Given the description of an element on the screen output the (x, y) to click on. 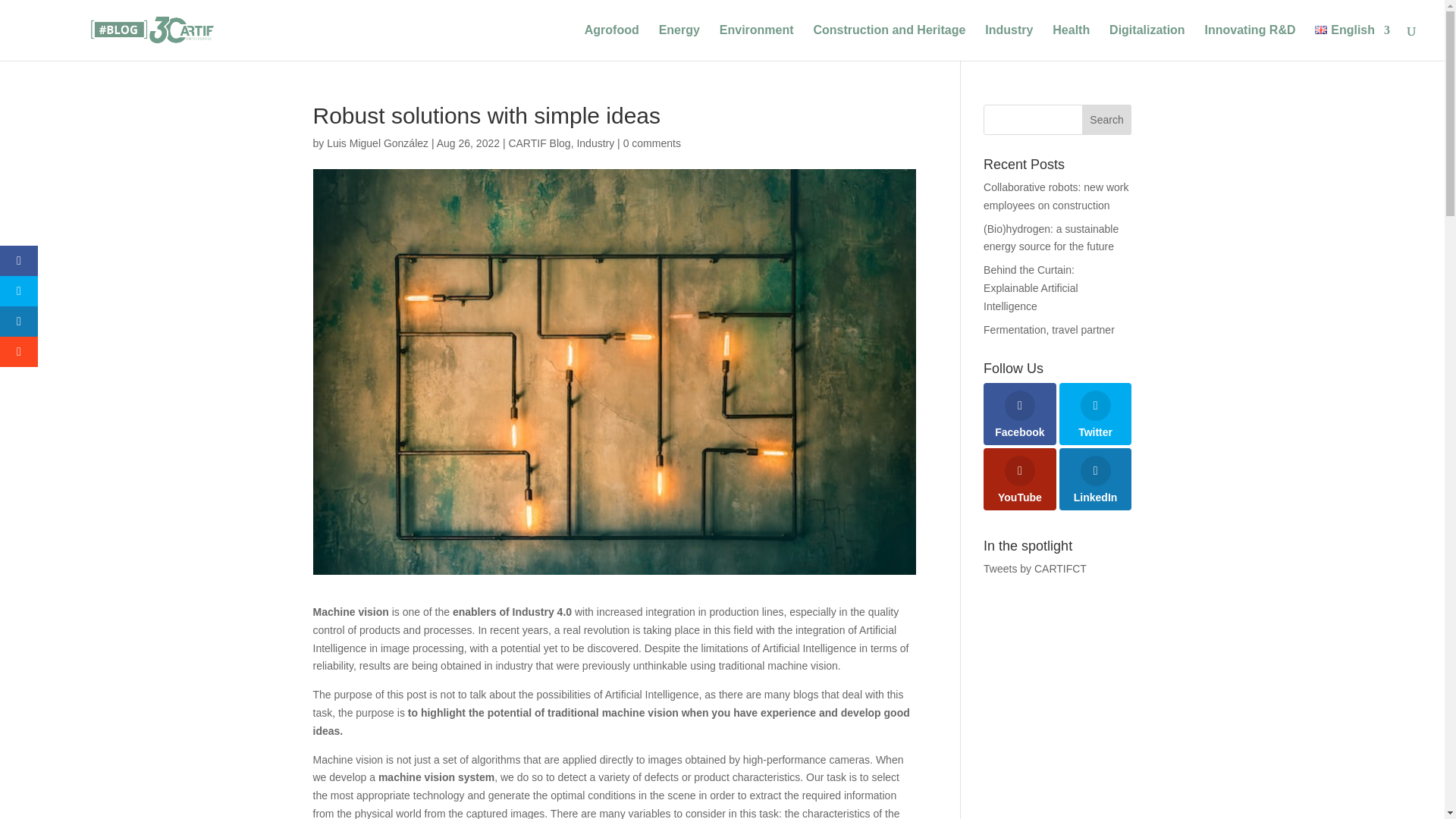
Tweets by CARTIFCT (1035, 568)
Energy (679, 42)
Twitter (1095, 414)
CARTIF Blog (539, 143)
Facebook (1020, 414)
Construction and Heritage (888, 42)
Search (1106, 119)
YouTube (1020, 478)
0 comments (652, 143)
Collaborative robots: new work employees on construction (1056, 195)
